Given the description of an element on the screen output the (x, y) to click on. 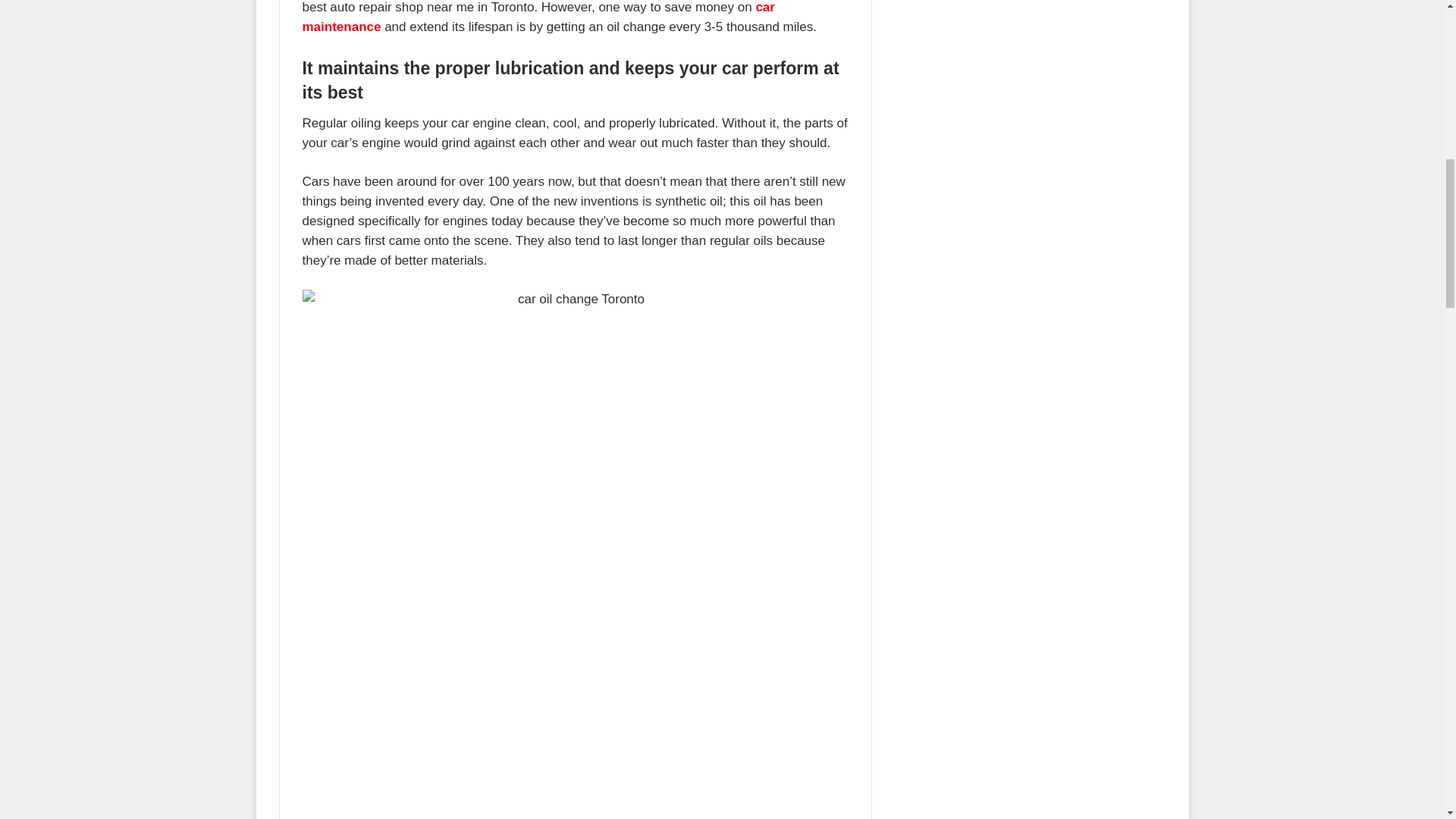
Where to Go for Car Maintenance and Repairs (537, 17)
car maintenance (537, 17)
